Given the description of an element on the screen output the (x, y) to click on. 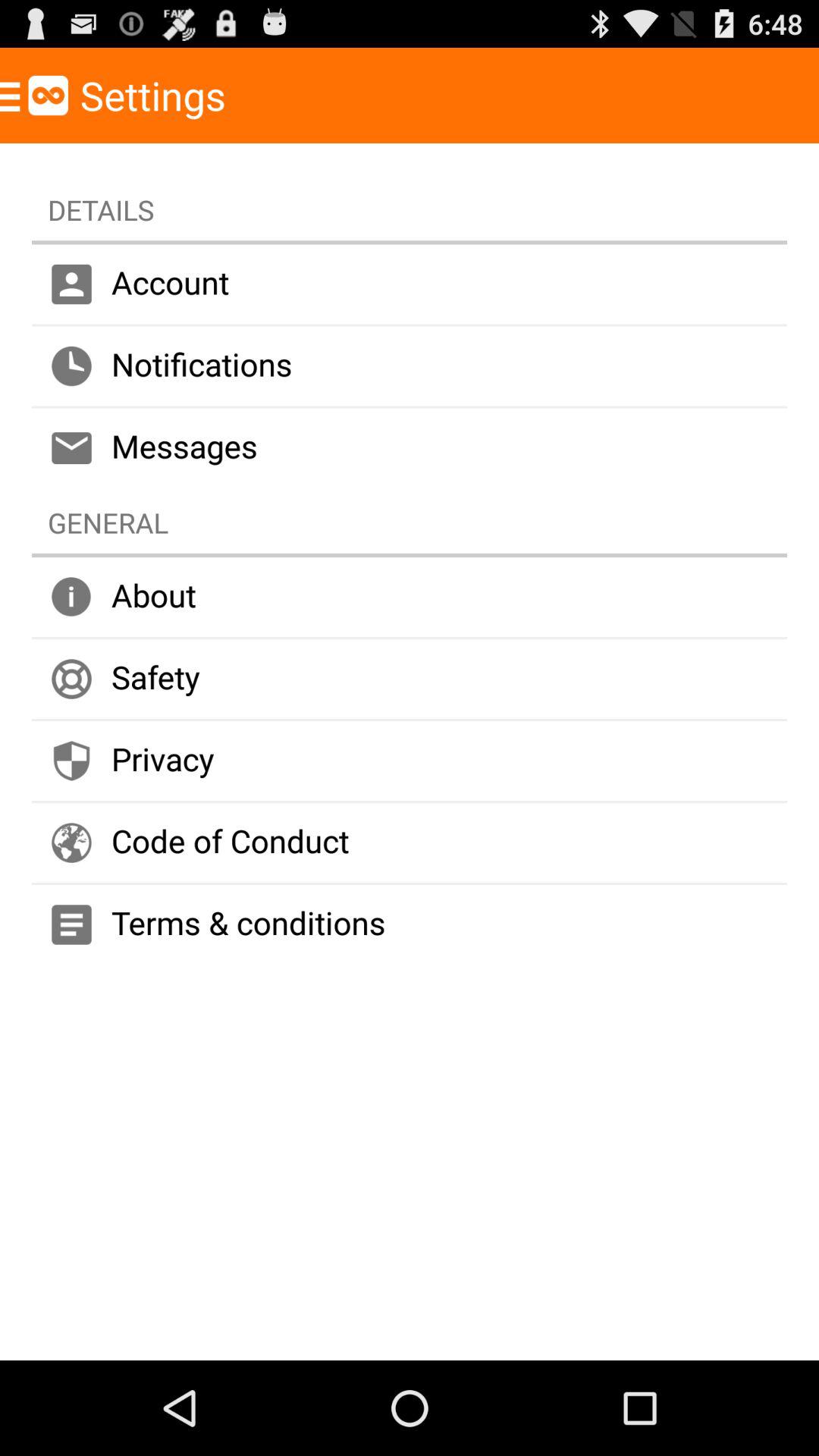
press messages item (409, 447)
